Given the description of an element on the screen output the (x, y) to click on. 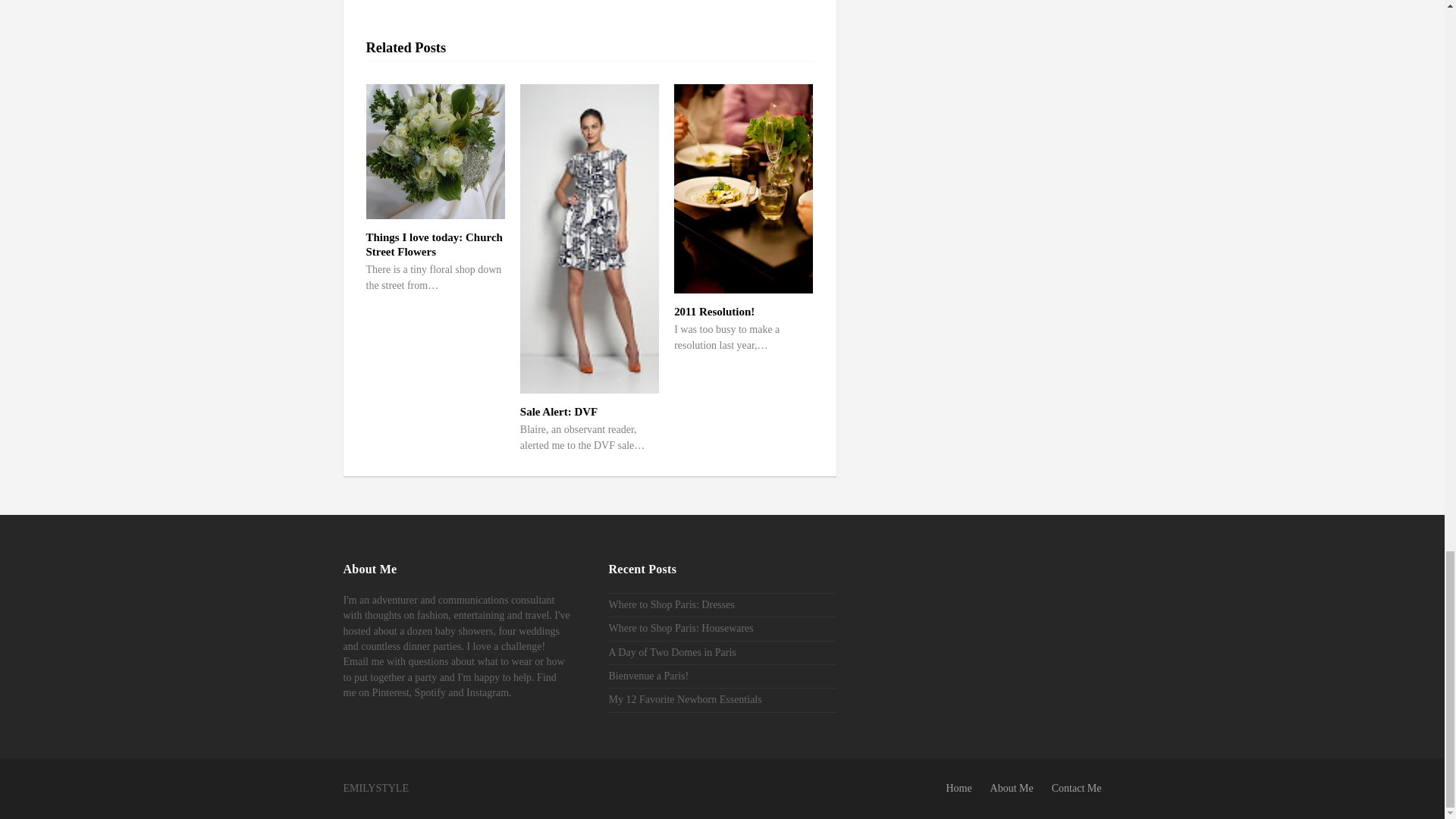
Sale Alert: DVF (557, 411)
2011 Resolution! (714, 311)
Things I love today: Church Street Flowers (433, 243)
Visit Author Page (392, 13)
